Given the description of an element on the screen output the (x, y) to click on. 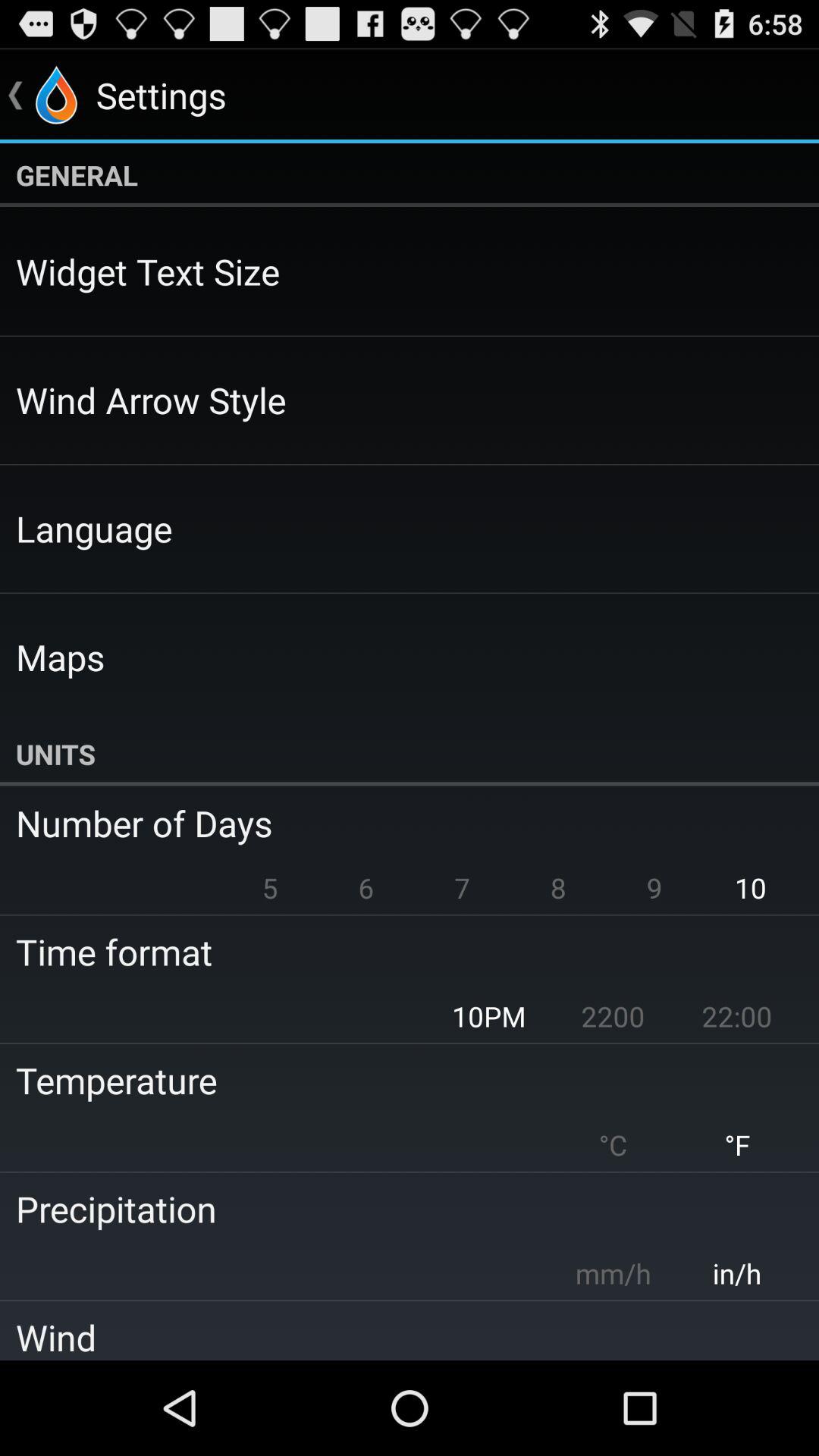
turn off 8 (558, 887)
